Given the description of an element on the screen output the (x, y) to click on. 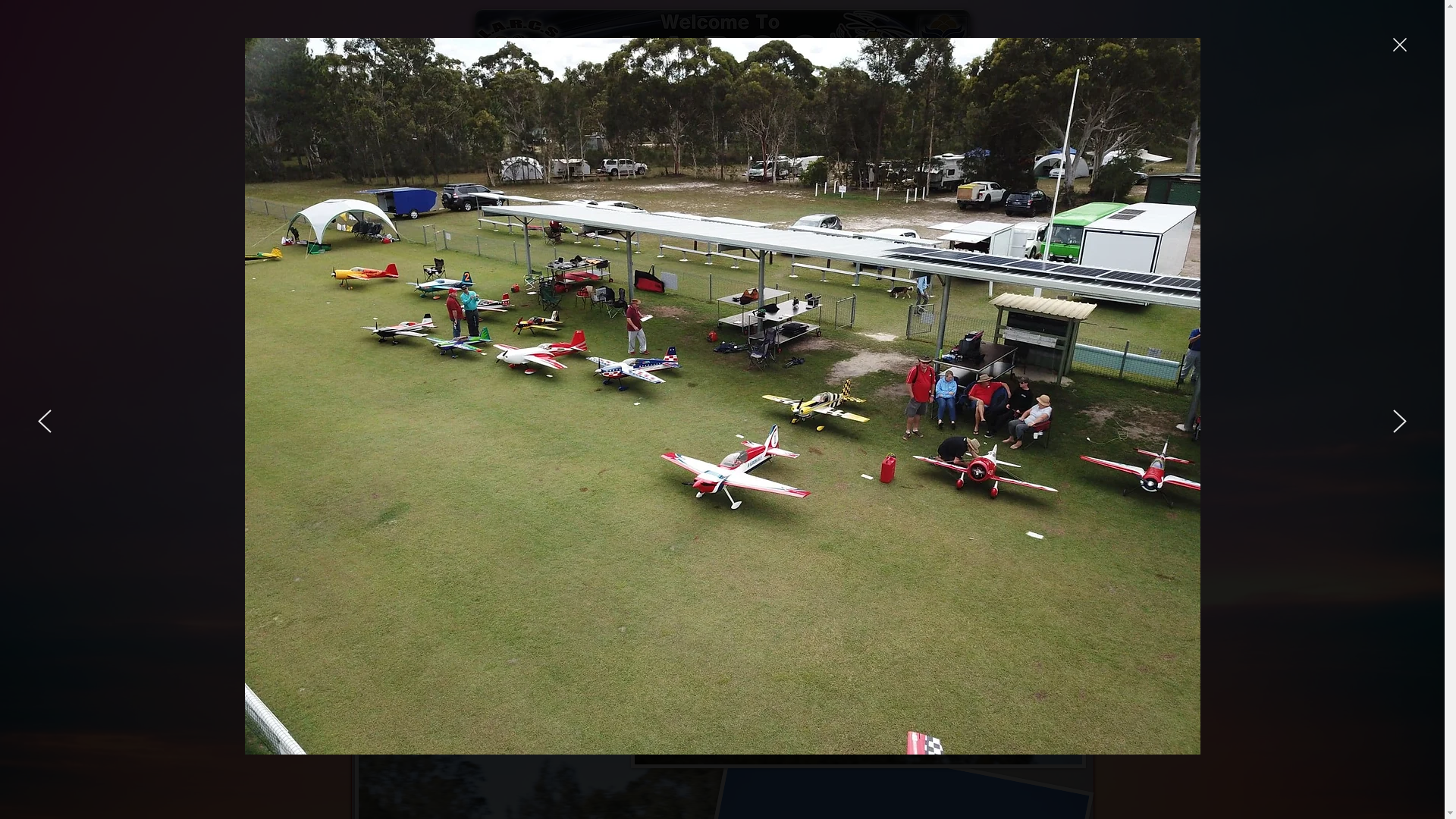
356428483_3386578231564230_2360188934504411662_n.jpg Element type: hover (586, 563)
Membership Element type: text (716, 168)
More Info Element type: text (1002, 168)
Gallery Element type: text (590, 168)
Visitors Element type: text (945, 168)
banner.JPG Element type: hover (722, 50)
356414424_3386578384897548_3852587242620663004_n.jpg Element type: hover (857, 616)
Insurance Element type: text (647, 168)
News Element type: text (436, 168)
Wings Training and Qualifications Element type: text (836, 168)
Events Element type: text (540, 168)
Contacts Element type: text (487, 168)
Home Element type: text (392, 168)
